Given the description of an element on the screen output the (x, y) to click on. 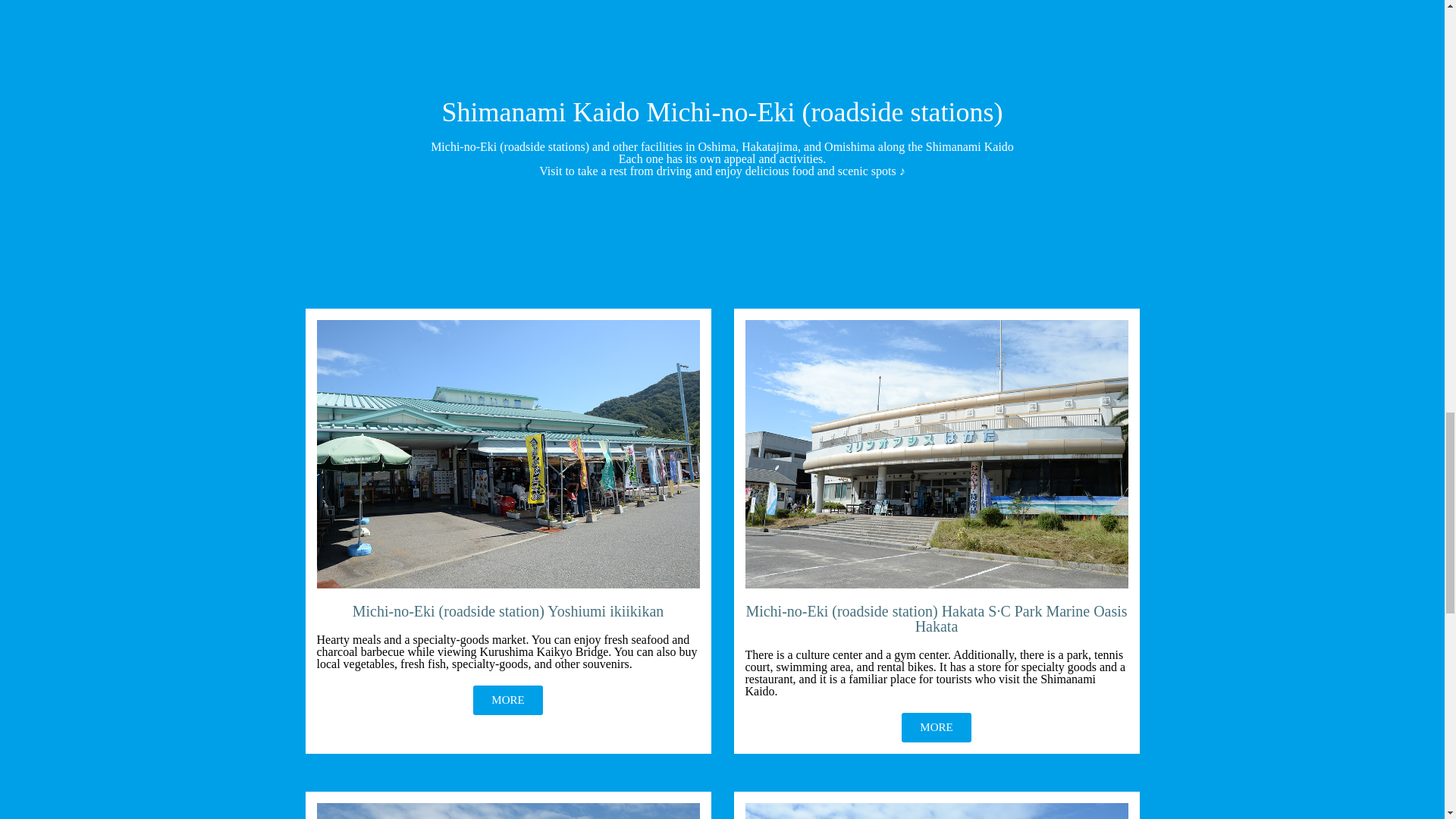
MORE (507, 699)
MORE (936, 727)
